Given the description of an element on the screen output the (x, y) to click on. 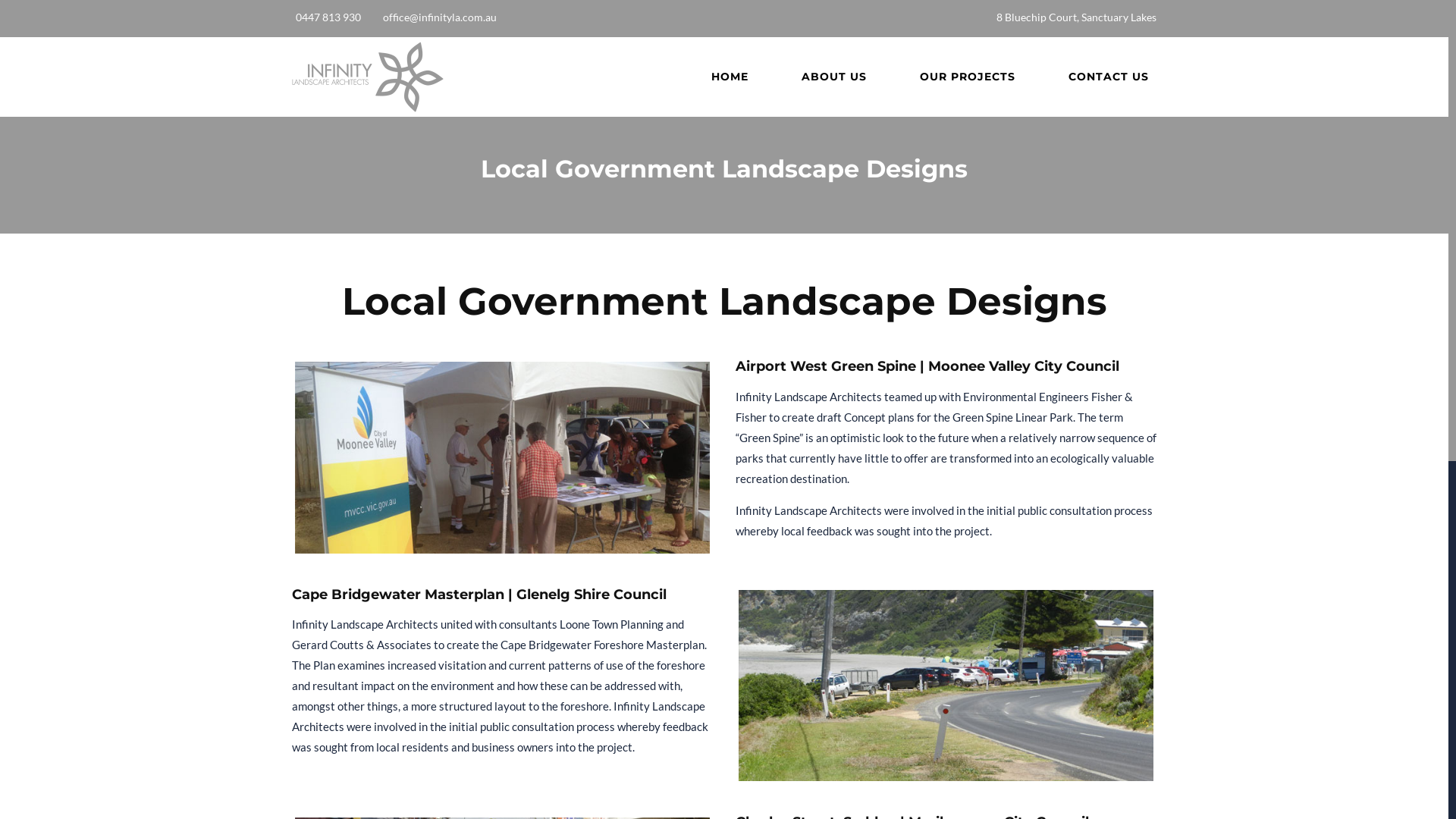
Cape-Bridgewater-Masterplan-img5 Element type: hover (530, 685)
Cape-Bridgewater-Masterplan-img1 Element type: hover (945, 685)
Airport-West-Green-Spine-Moonee-Valley-img3 Element type: hover (501, 456)
0447 813 930 Element type: text (327, 16)
HOME Element type: text (729, 76)
OUR PROJECTS Element type: text (967, 76)
ABOUT US Element type: text (833, 76)
office@infinityla.com.au Element type: text (439, 16)
CONTACT US Element type: text (1098, 76)
